Given the description of an element on the screen output the (x, y) to click on. 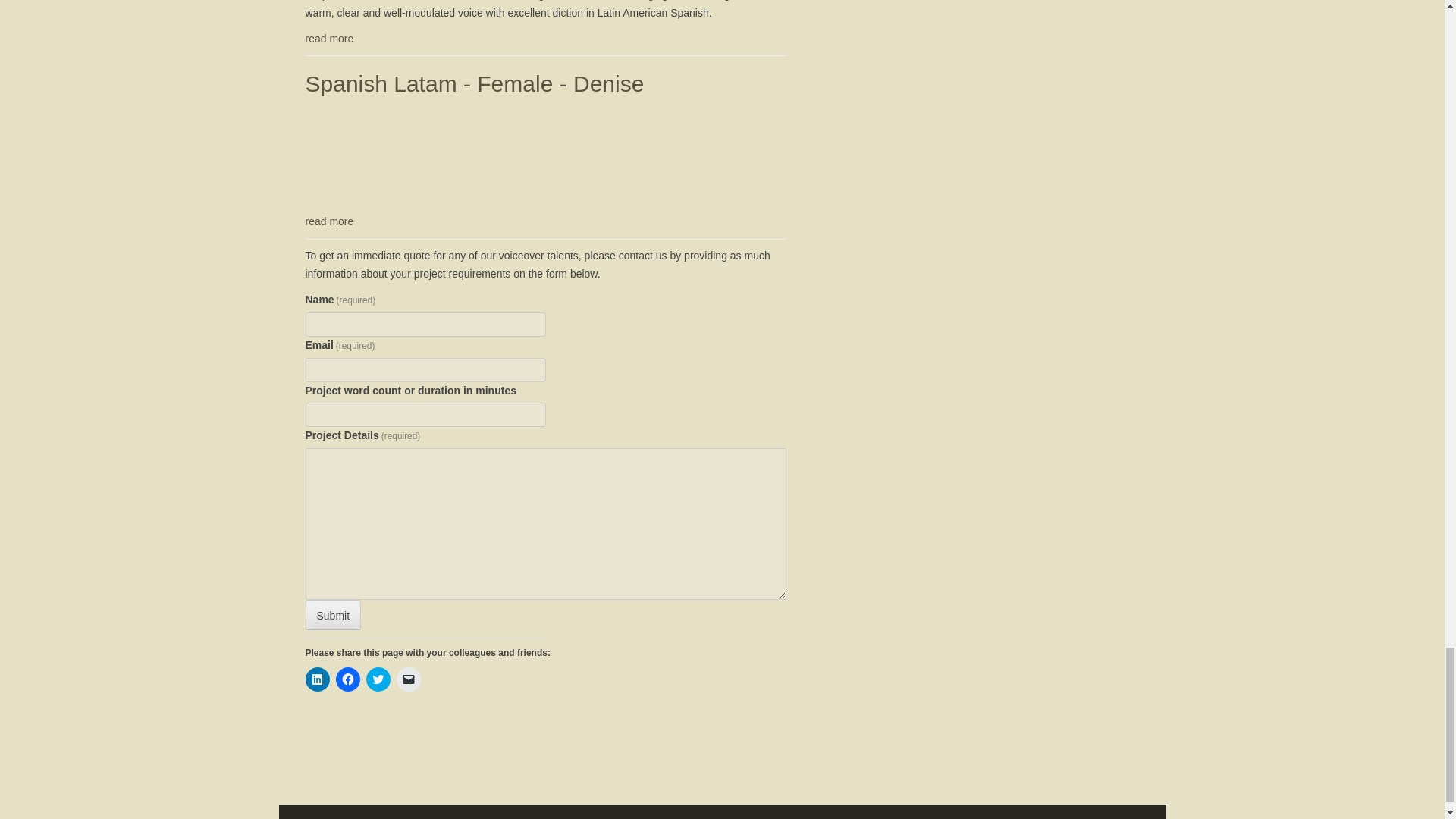
Click to share on LinkedIn (316, 679)
Click to share on Facebook (346, 679)
Click to email a link to a friend (408, 679)
Click to share on Twitter (377, 679)
